Given the description of an element on the screen output the (x, y) to click on. 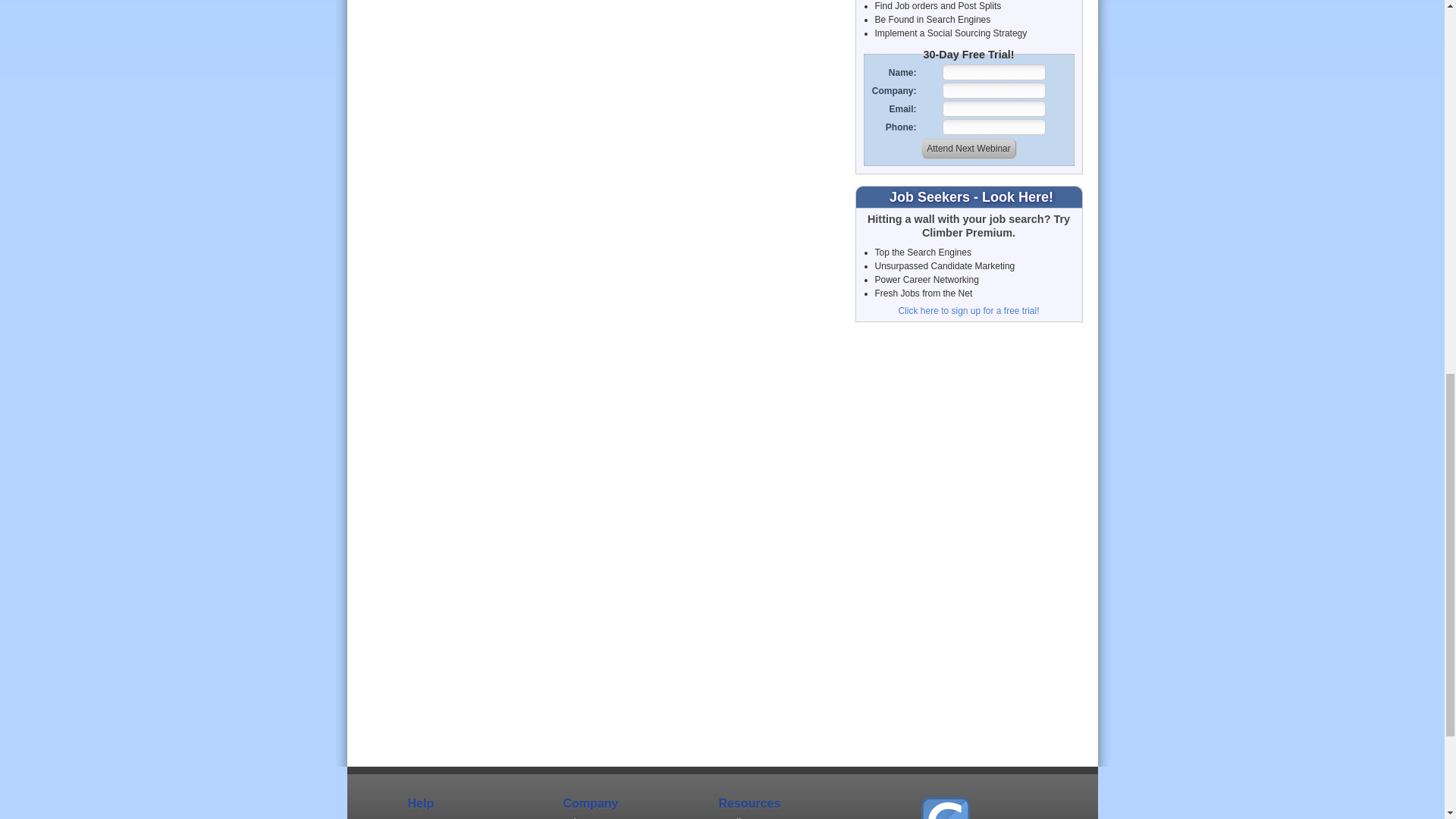
Attend Next Webinar (968, 148)
FAQ (472, 816)
Click here to sign up for a free trial! (968, 310)
